Given the description of an element on the screen output the (x, y) to click on. 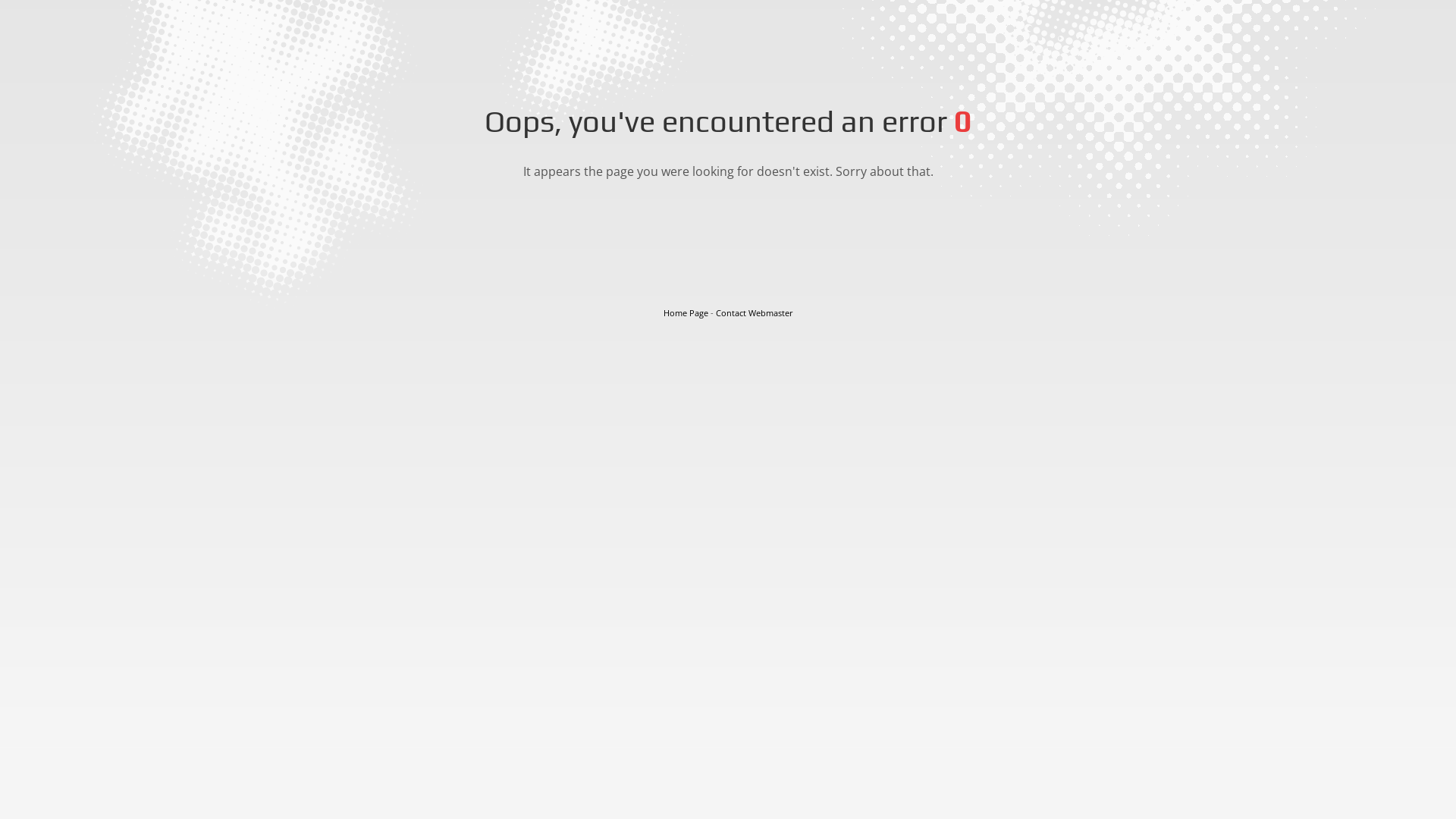
Contact Webmaster Element type: text (754, 312)
Home Page Element type: text (684, 312)
